Given the description of an element on the screen output the (x, y) to click on. 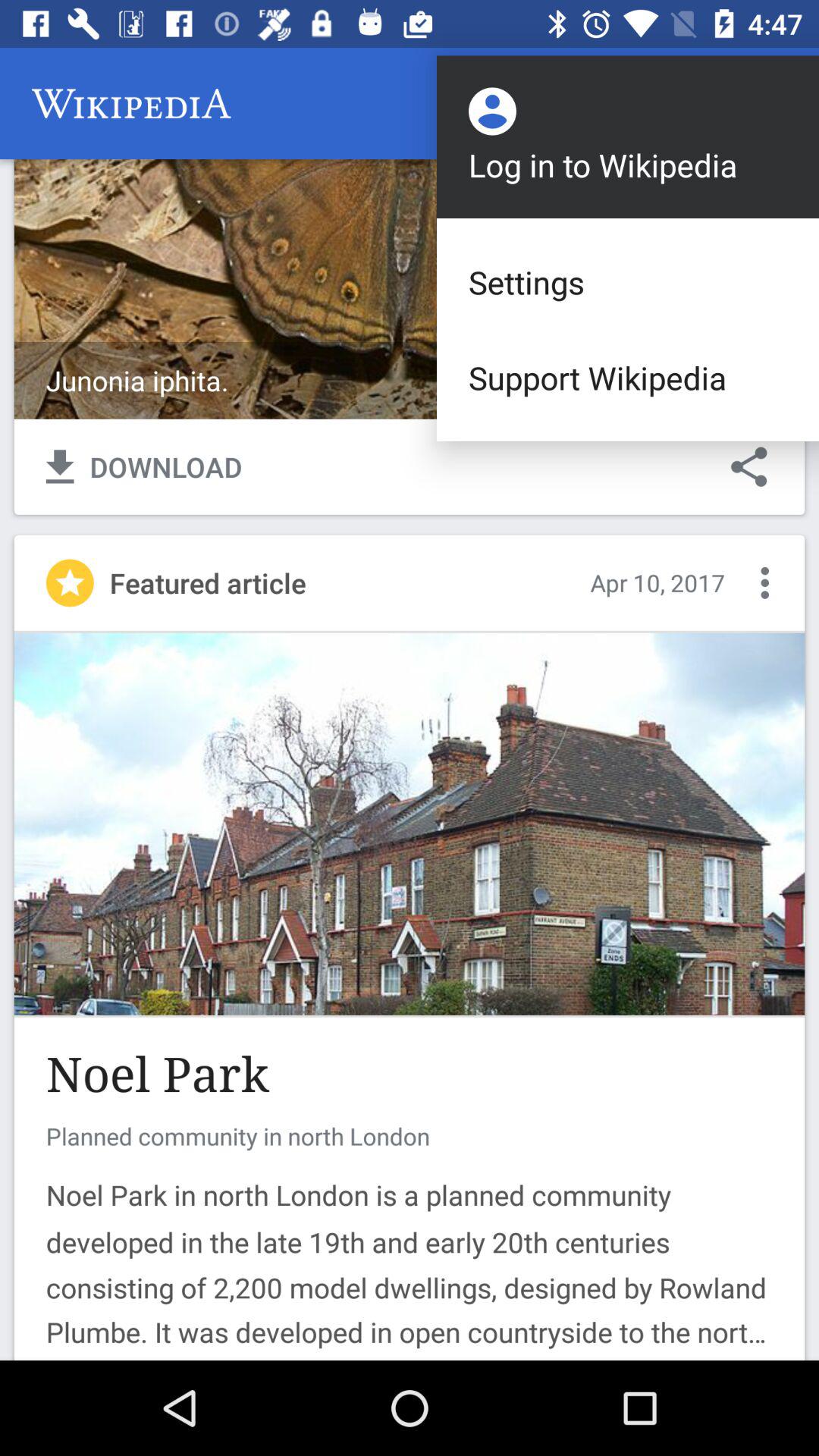
choose support wikipedia icon (627, 377)
